Given the description of an element on the screen output the (x, y) to click on. 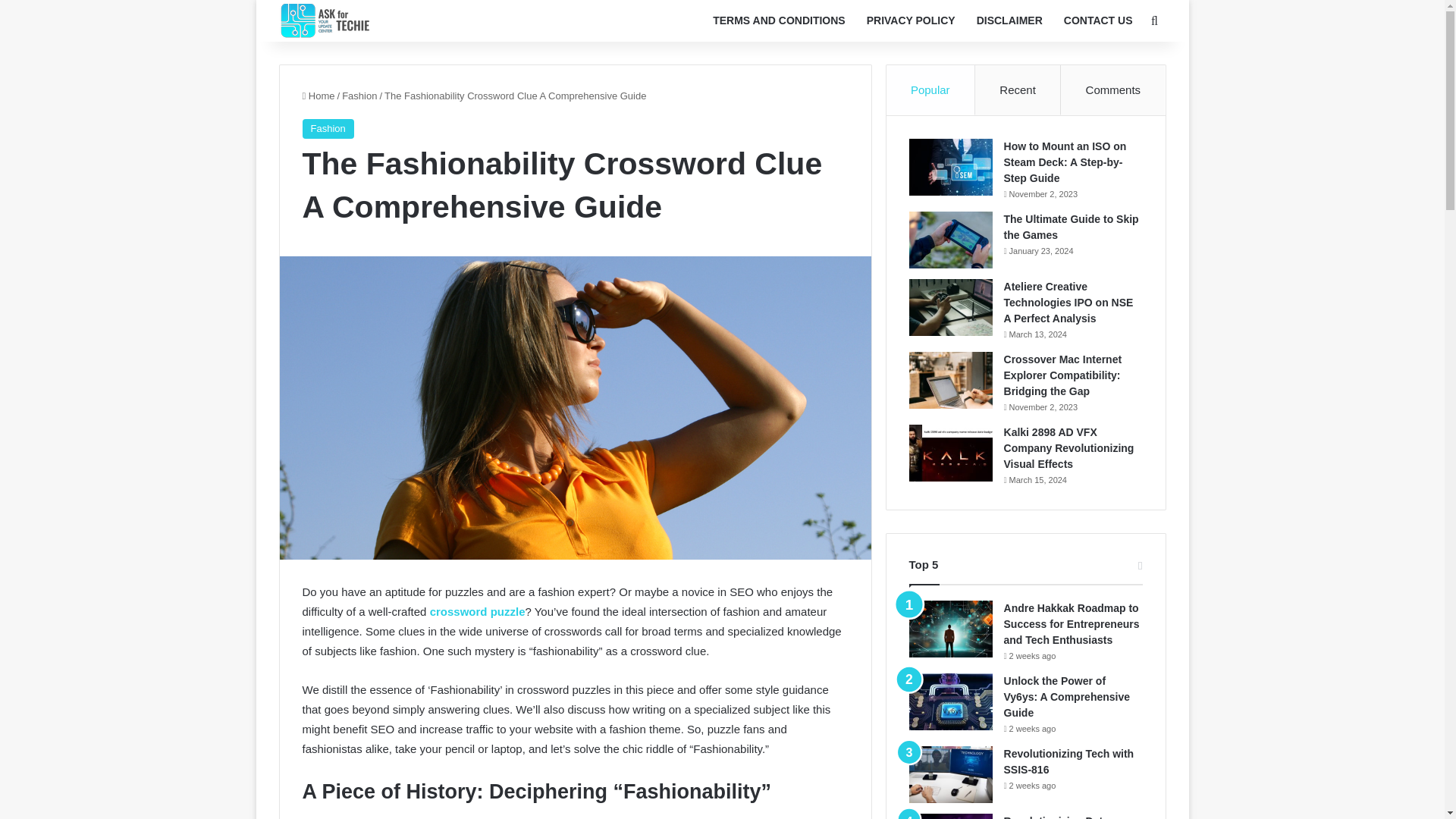
Ateliere Creative Technologies IPO on NSE A Perfect Analysis (1069, 302)
TERMS AND CONDITIONS (778, 20)
crossword puzzle (477, 611)
Ask For Techie (328, 20)
The Ultimate Guide to Skip the Games (1071, 226)
Kalki 2898 AD VFX Company Revolutionizing Visual Effects (1069, 447)
Fashion (359, 95)
Popular (930, 90)
Fashion (327, 128)
Comments (1112, 90)
CONTACT US (1097, 20)
Recent (1018, 90)
How to Mount an ISO on Steam Deck: A Step-by-Step Guide (1065, 162)
Search for (1154, 20)
